Given the description of an element on the screen output the (x, y) to click on. 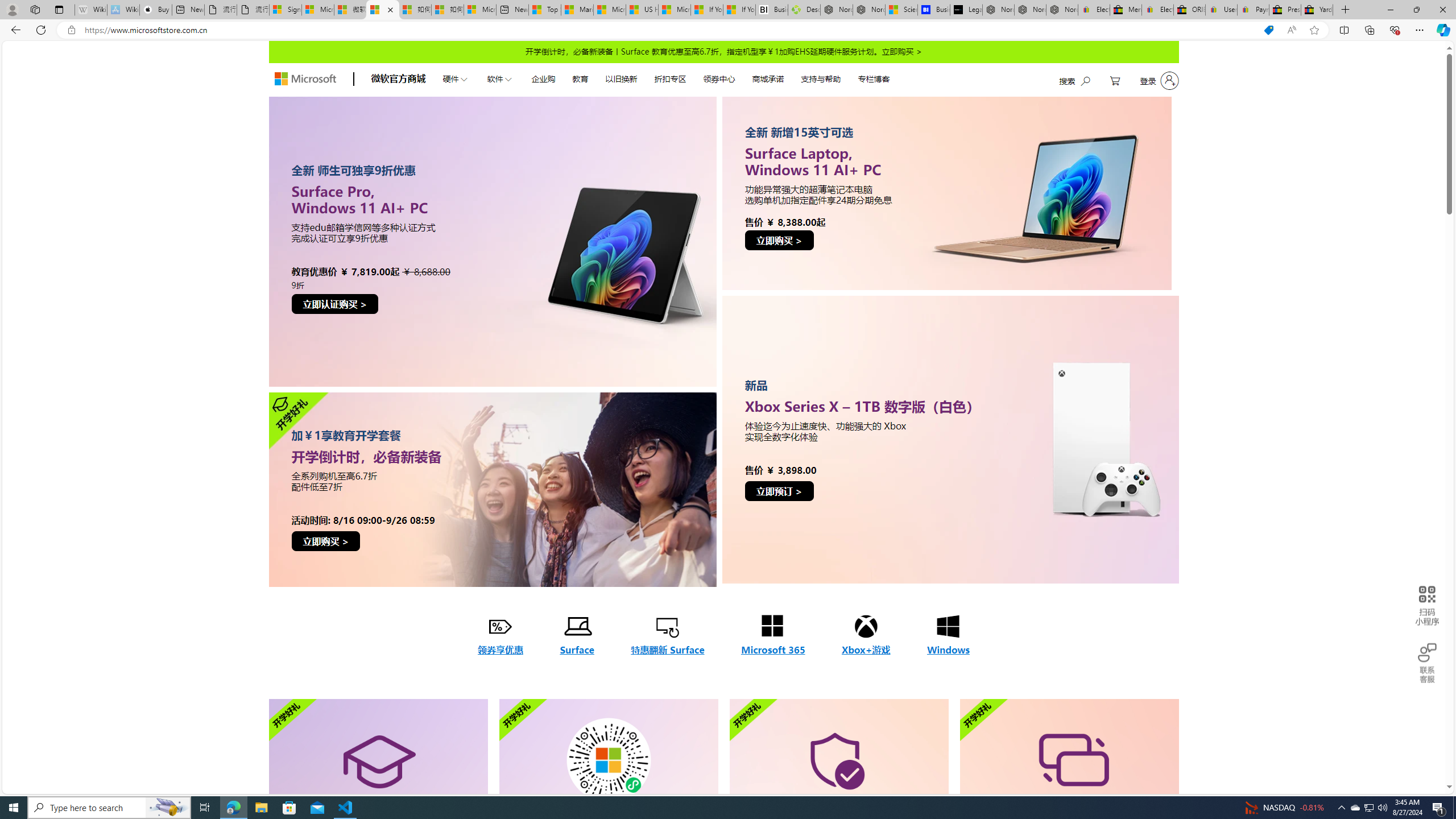
Pro (491, 240)
Yard, Garden & Outdoor Living (1316, 9)
Press Room - eBay Inc. (1284, 9)
Surface (576, 635)
Surface Laptop (950, 192)
